Given the description of an element on the screen output the (x, y) to click on. 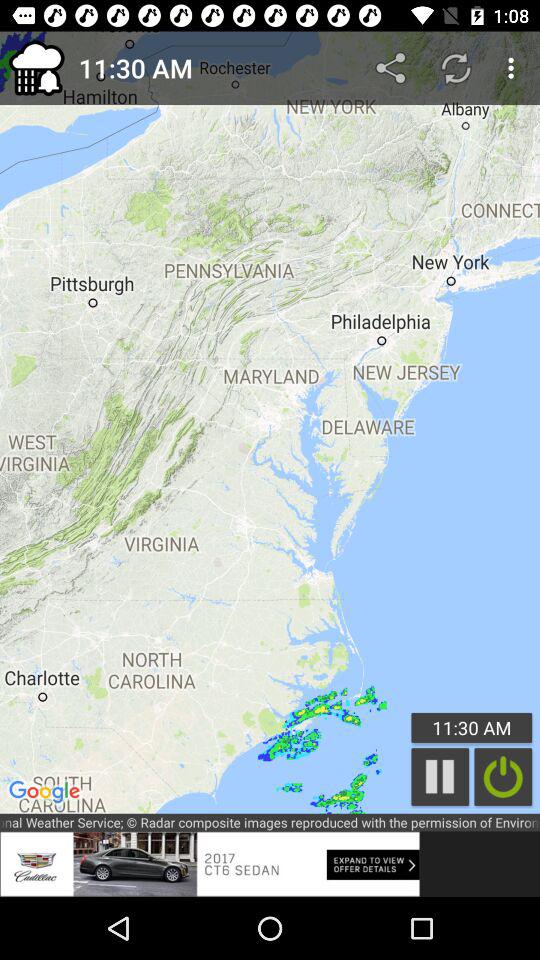
view advertisement (210, 864)
